Given the description of an element on the screen output the (x, y) to click on. 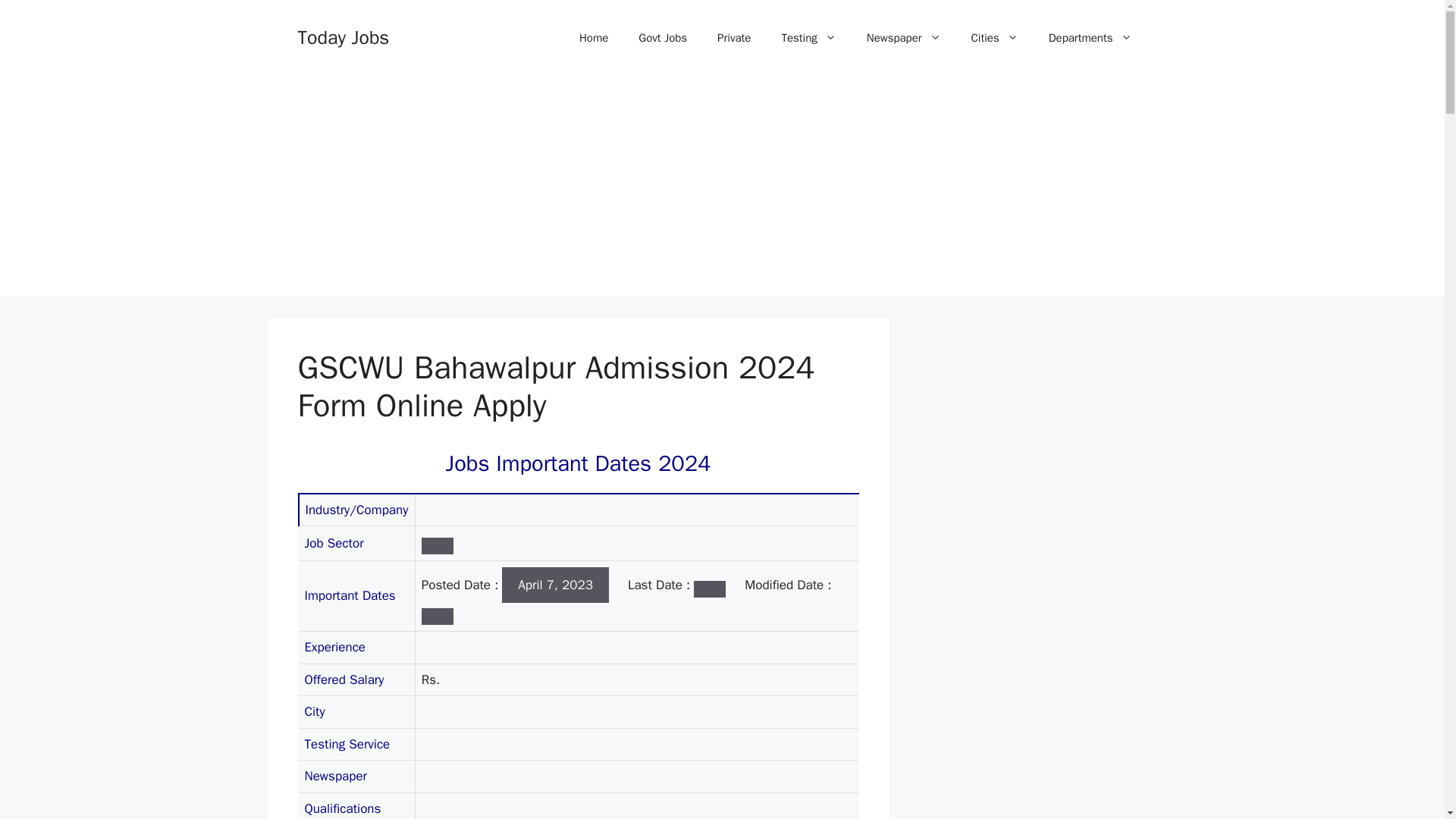
Private (733, 37)
Newspaper (903, 37)
Cities (994, 37)
Today Jobs (342, 37)
Govt Jobs (662, 37)
Home (593, 37)
Home (593, 37)
Testing (807, 37)
Departments (1090, 37)
